Given the description of an element on the screen output the (x, y) to click on. 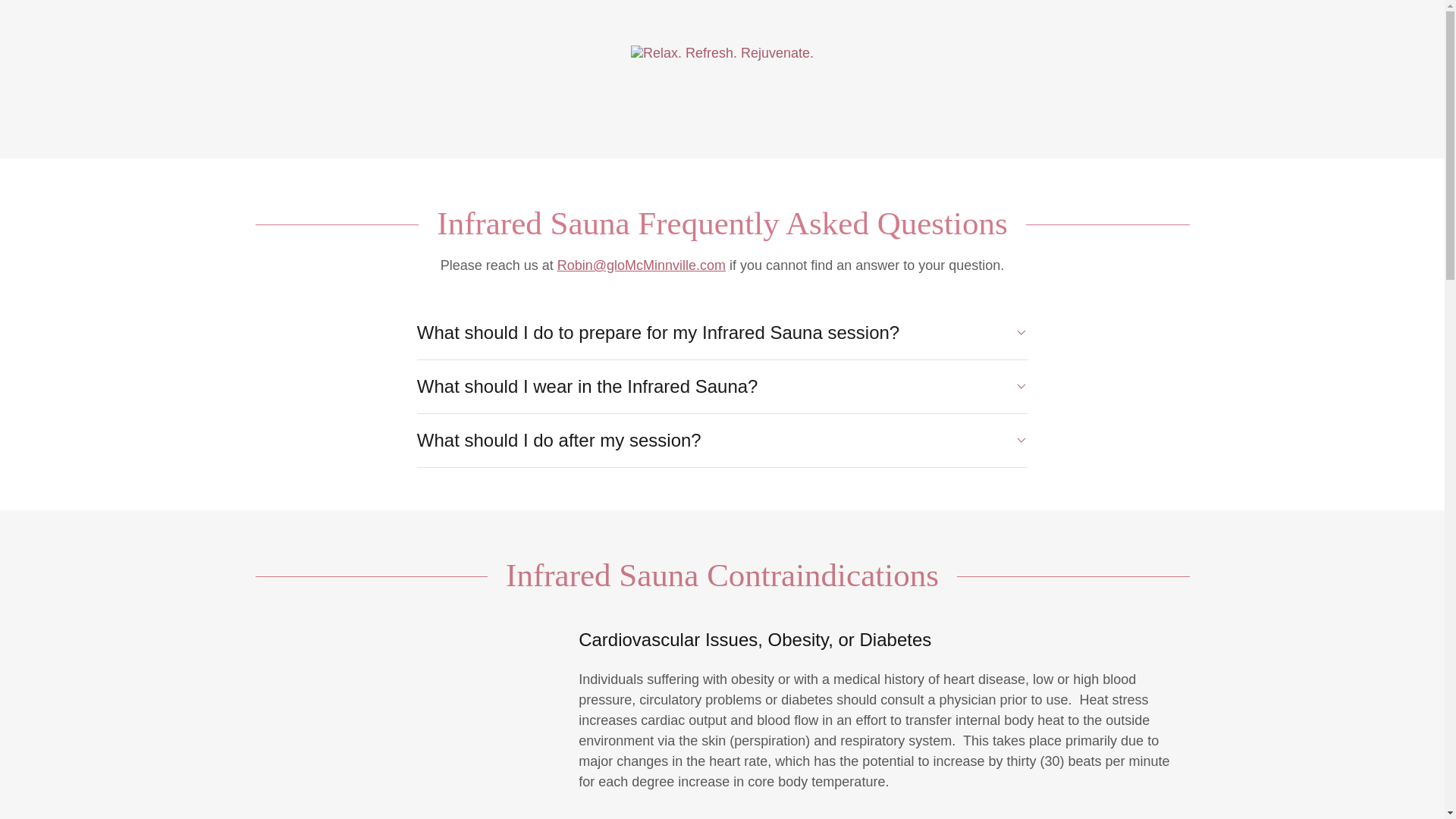
Relax. Refresh. Rejuvenate. (721, 52)
What should I wear in the Infrared Sauna? (721, 386)
What should I do after my session? (721, 440)
What should I do to prepare for my Infrared Sauna session? (721, 332)
